Given the description of an element on the screen output the (x, y) to click on. 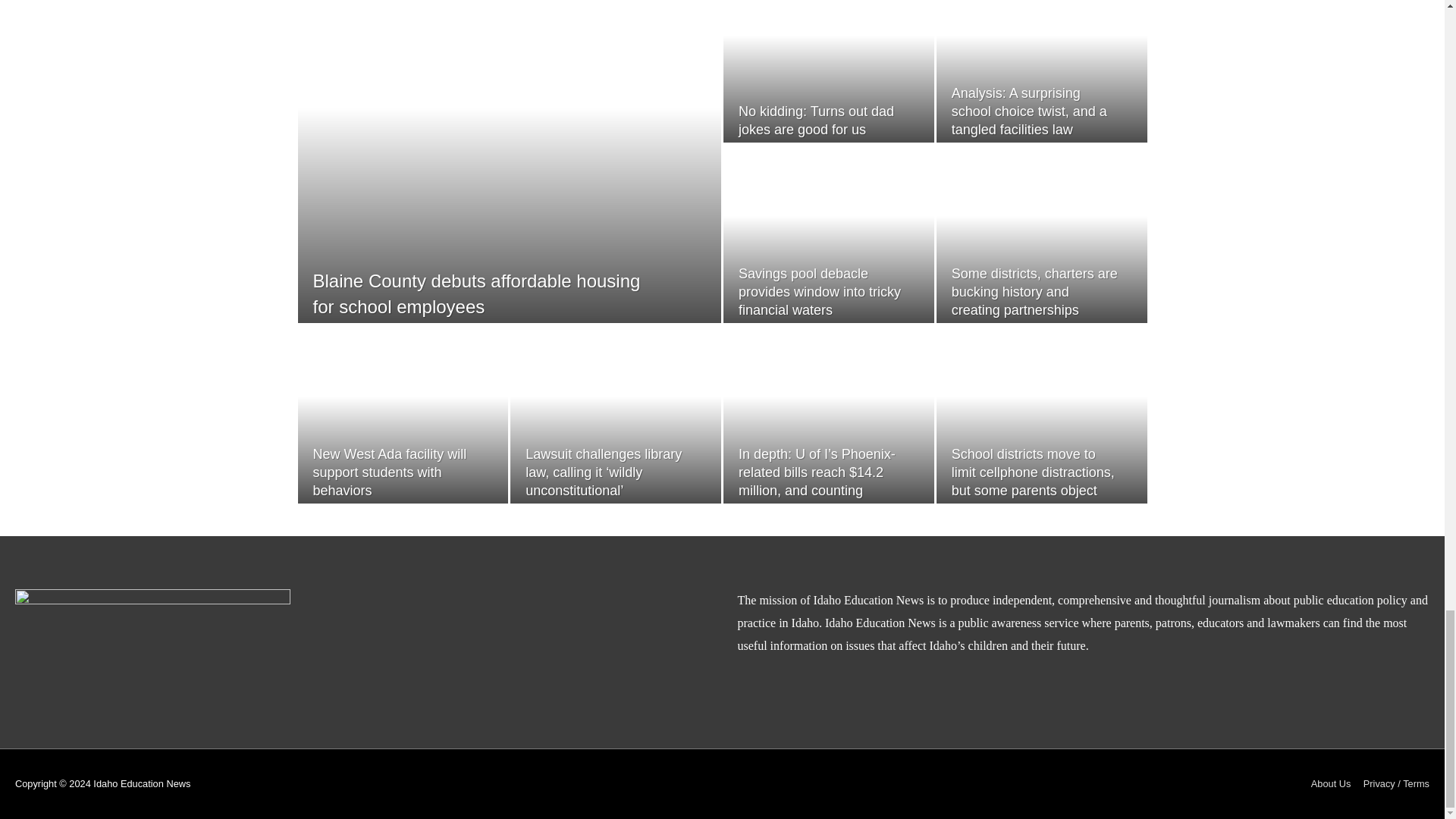
No kidding: Turns out dad jokes are good for us (815, 120)
New West Ada facility will support students with behaviors (389, 471)
Blaine County debuts affordable housing for school employees (476, 293)
